Given the description of an element on the screen output the (x, y) to click on. 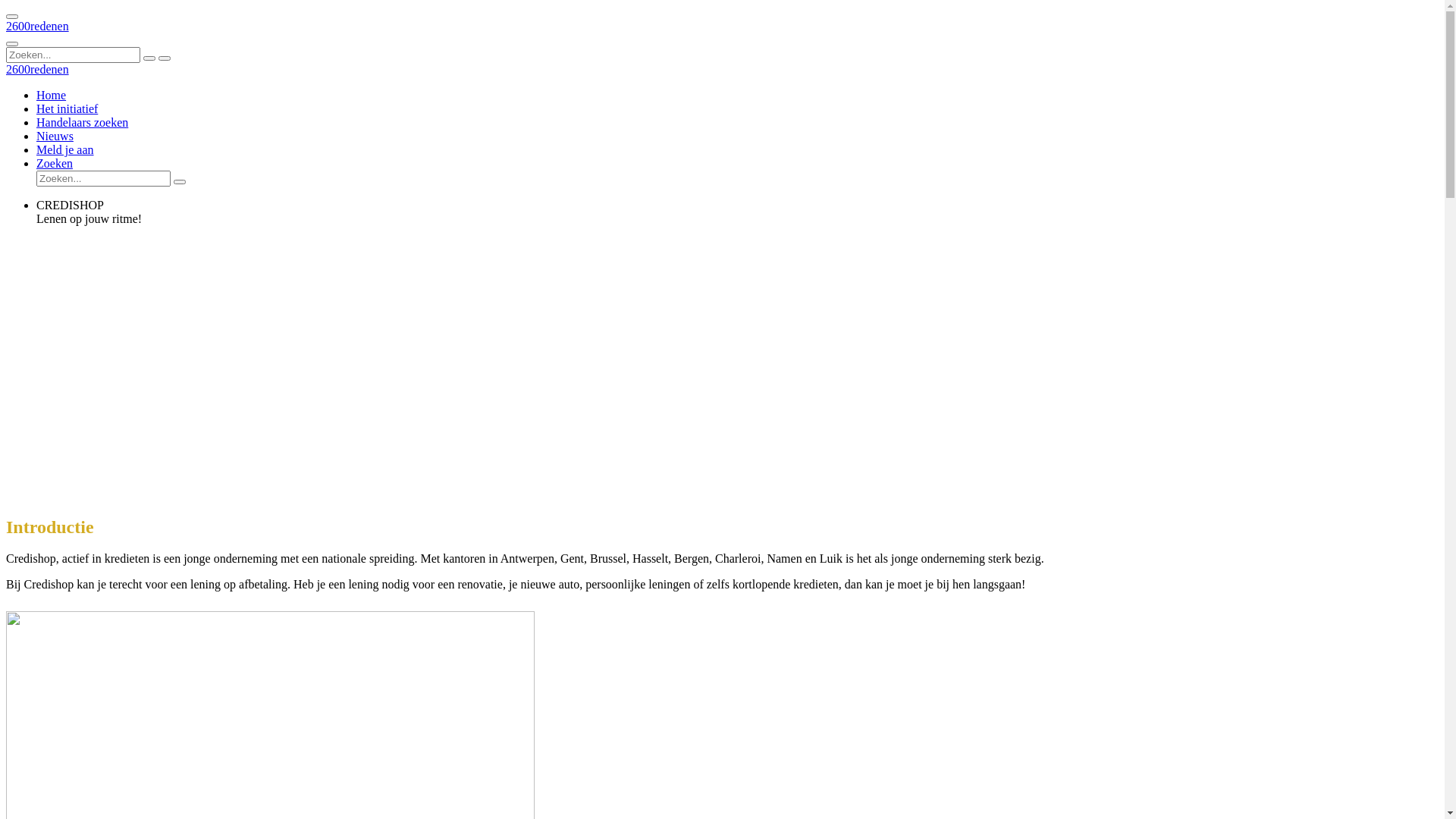
Home Element type: text (50, 94)
2600redenen Element type: text (37, 68)
Zoeken Element type: text (54, 162)
Meld je aan Element type: text (65, 149)
2600redenen Element type: text (37, 25)
Nieuws Element type: text (54, 135)
Handelaars zoeken Element type: text (82, 122)
Het initiatief Element type: text (66, 108)
